Given the description of an element on the screen output the (x, y) to click on. 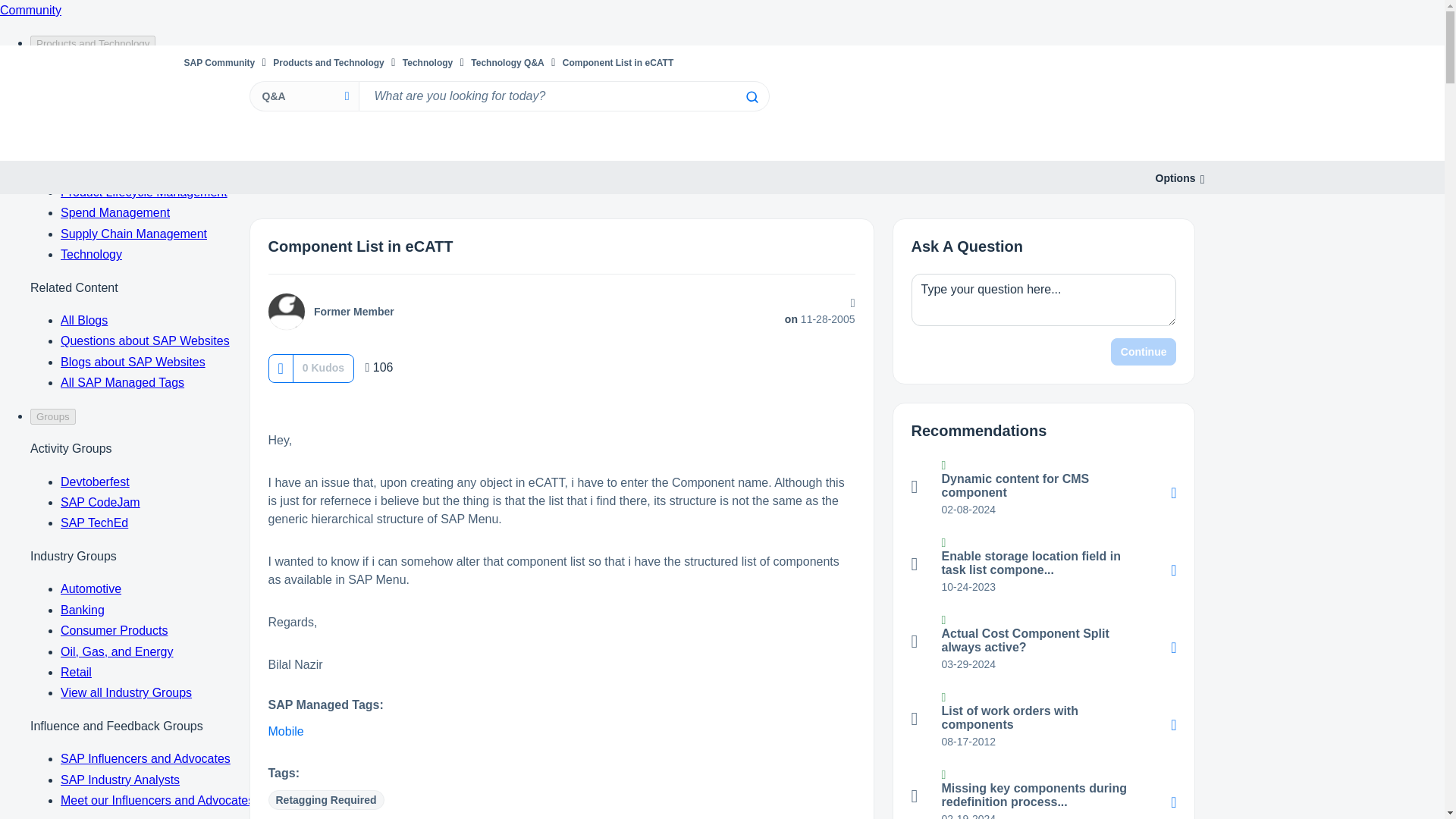
Search (750, 96)
The total number of kudos this post has received. (323, 367)
Technology (427, 62)
Continue (1143, 351)
Products and Technology (328, 62)
Search (563, 96)
Options (1176, 178)
Search Granularity (303, 96)
Search (750, 96)
Click here to give kudos to this post. (279, 367)
Retagging Required (325, 799)
SAP Community (218, 62)
Continue (1143, 351)
Show option menu (1176, 178)
Search (750, 96)
